Given the description of an element on the screen output the (x, y) to click on. 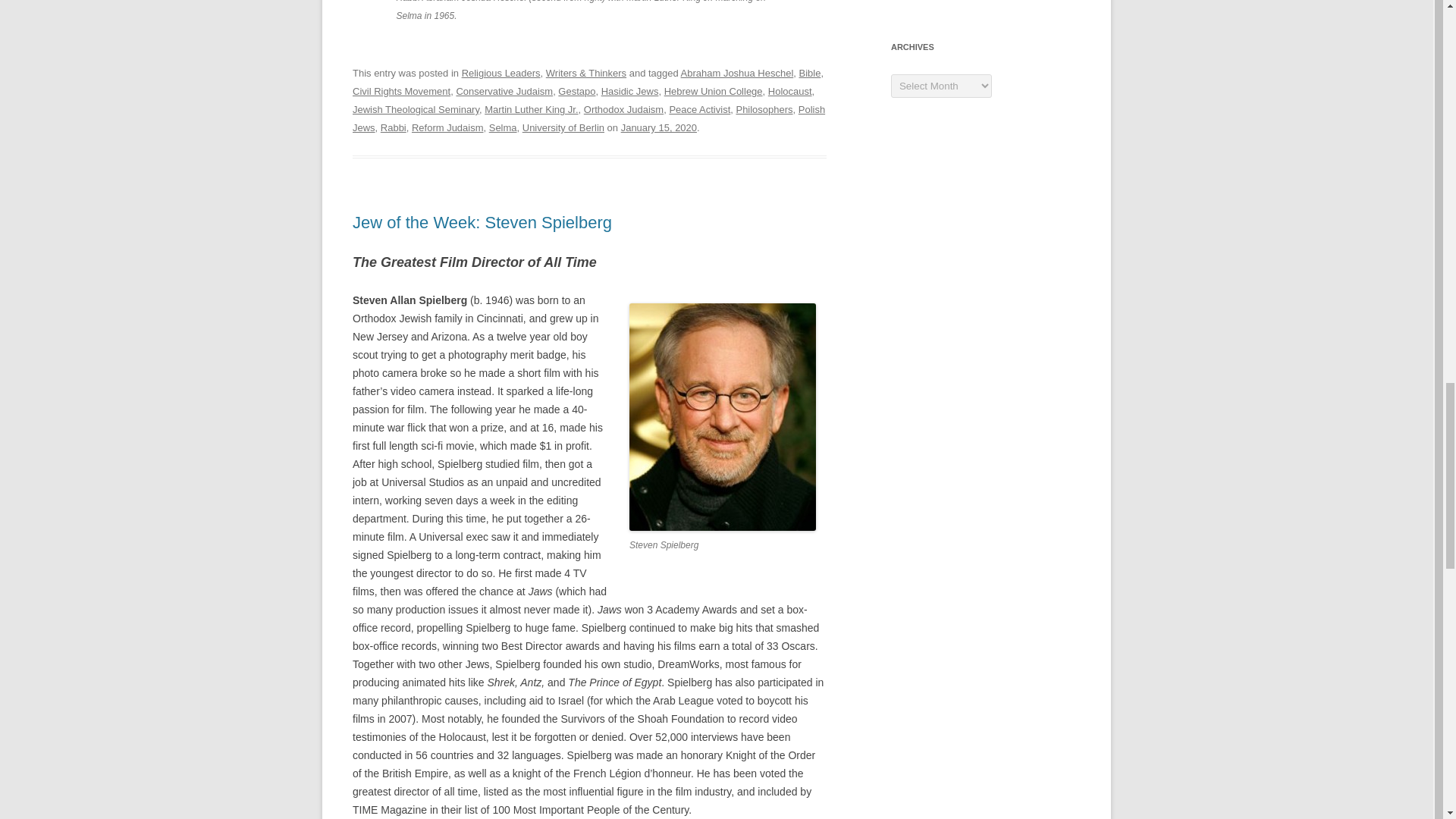
January 15, 2020 (659, 127)
Jewish Theological Seminary (415, 109)
Abraham Joshua Heschel (737, 72)
Peace Activist (699, 109)
University of Berlin (563, 127)
Hasidic Jews (630, 91)
Orthodox Judaism (623, 109)
Holocaust (790, 91)
Gestapo (576, 91)
Hebrew Union College (712, 91)
Conservative Judaism (504, 91)
Philosophers (763, 109)
Jew of the Week: Steven Spielberg (481, 221)
9:43 am (659, 127)
Reform Judaism (447, 127)
